Given the description of an element on the screen output the (x, y) to click on. 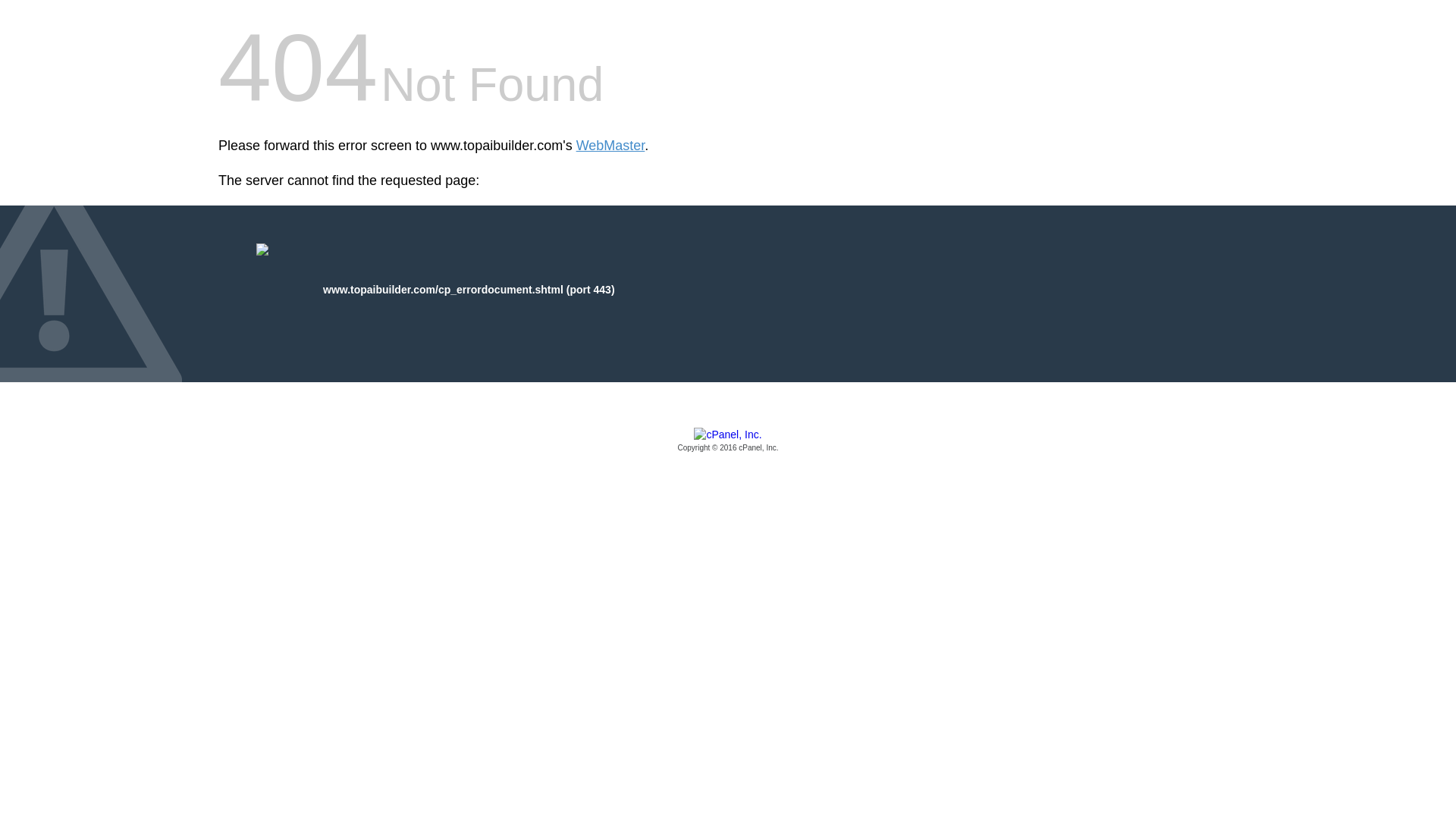
WebMaster (610, 145)
cPanel, Inc. (727, 440)
